Given the description of an element on the screen output the (x, y) to click on. 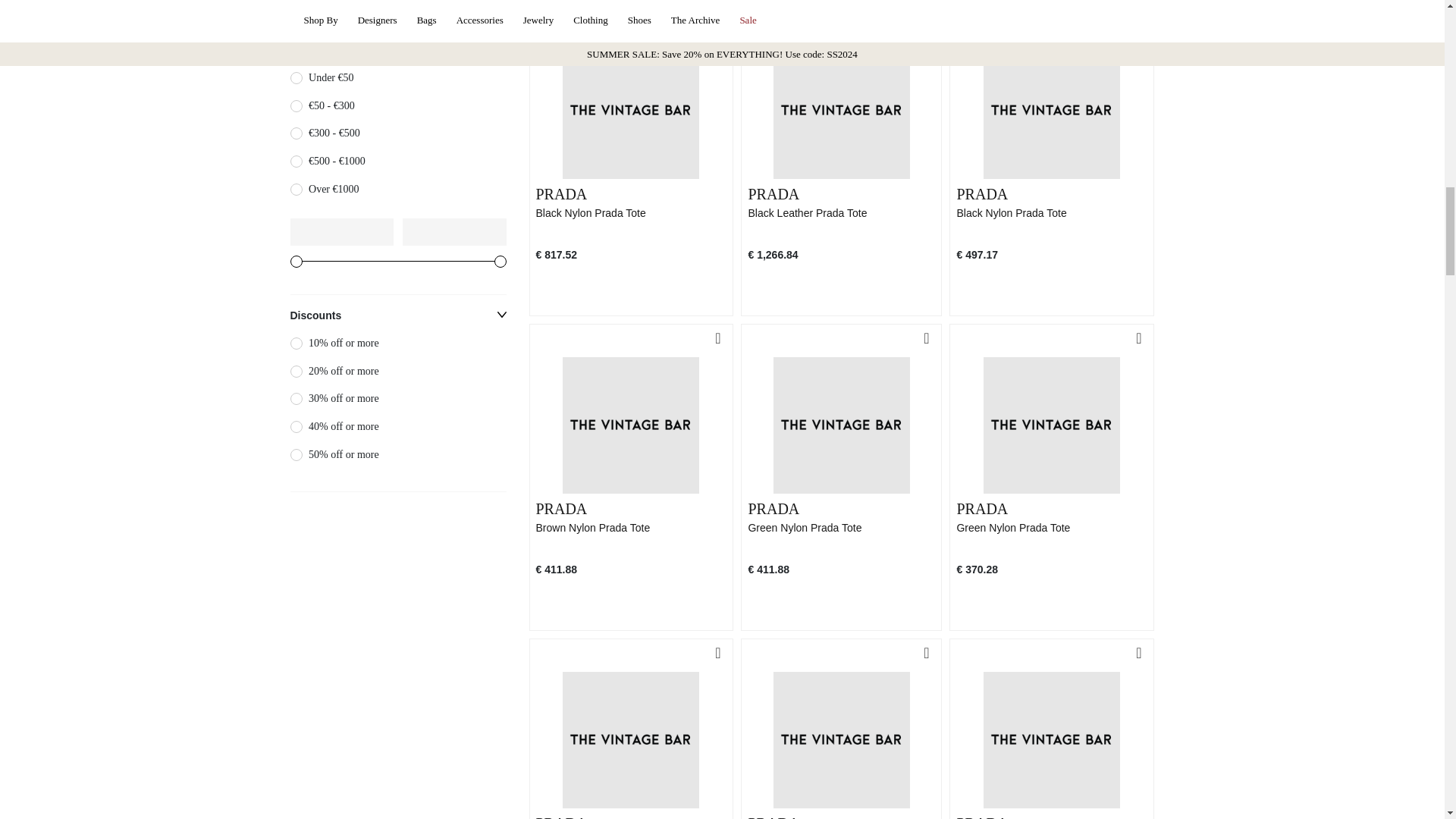
Discounts (397, 393)
Conditions (397, 14)
